Given the description of an element on the screen output the (x, y) to click on. 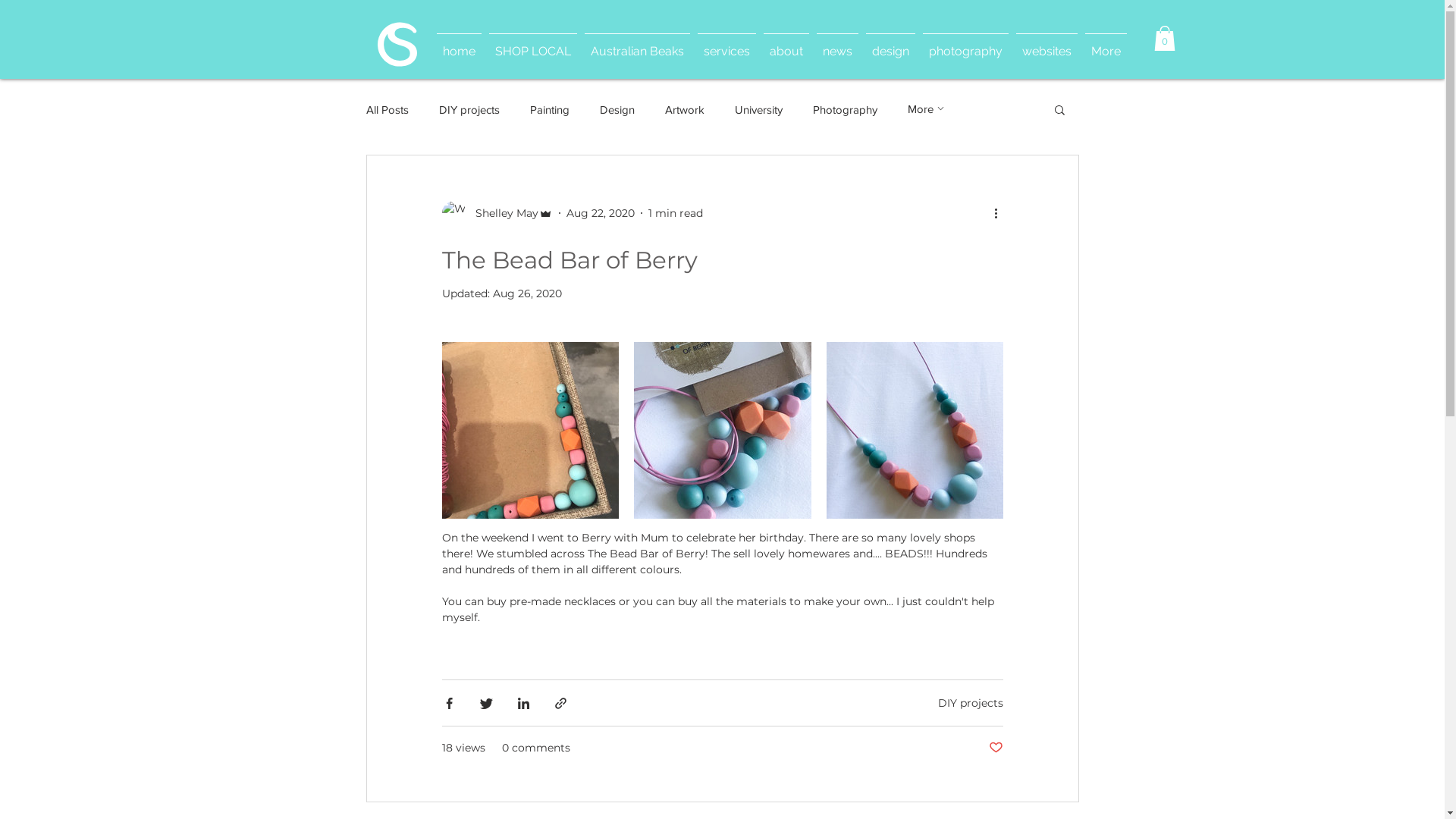
University Element type: text (757, 109)
design Element type: text (889, 44)
DIY projects Element type: text (969, 702)
All Posts Element type: text (386, 109)
photography Element type: text (965, 44)
0 Element type: text (1164, 37)
Artwork Element type: text (683, 109)
Post not marked as liked Element type: text (995, 748)
news Element type: text (837, 44)
home Element type: text (458, 44)
websites Element type: text (1045, 44)
about Element type: text (785, 44)
services Element type: text (726, 44)
Design Element type: text (616, 109)
Photography Element type: text (844, 109)
SHOP LOCAL Element type: text (532, 44)
Shelley May Element type: text (496, 212)
Painting Element type: text (548, 109)
Australian Beaks Element type: text (636, 44)
DIY projects Element type: text (468, 109)
